Given the description of an element on the screen output the (x, y) to click on. 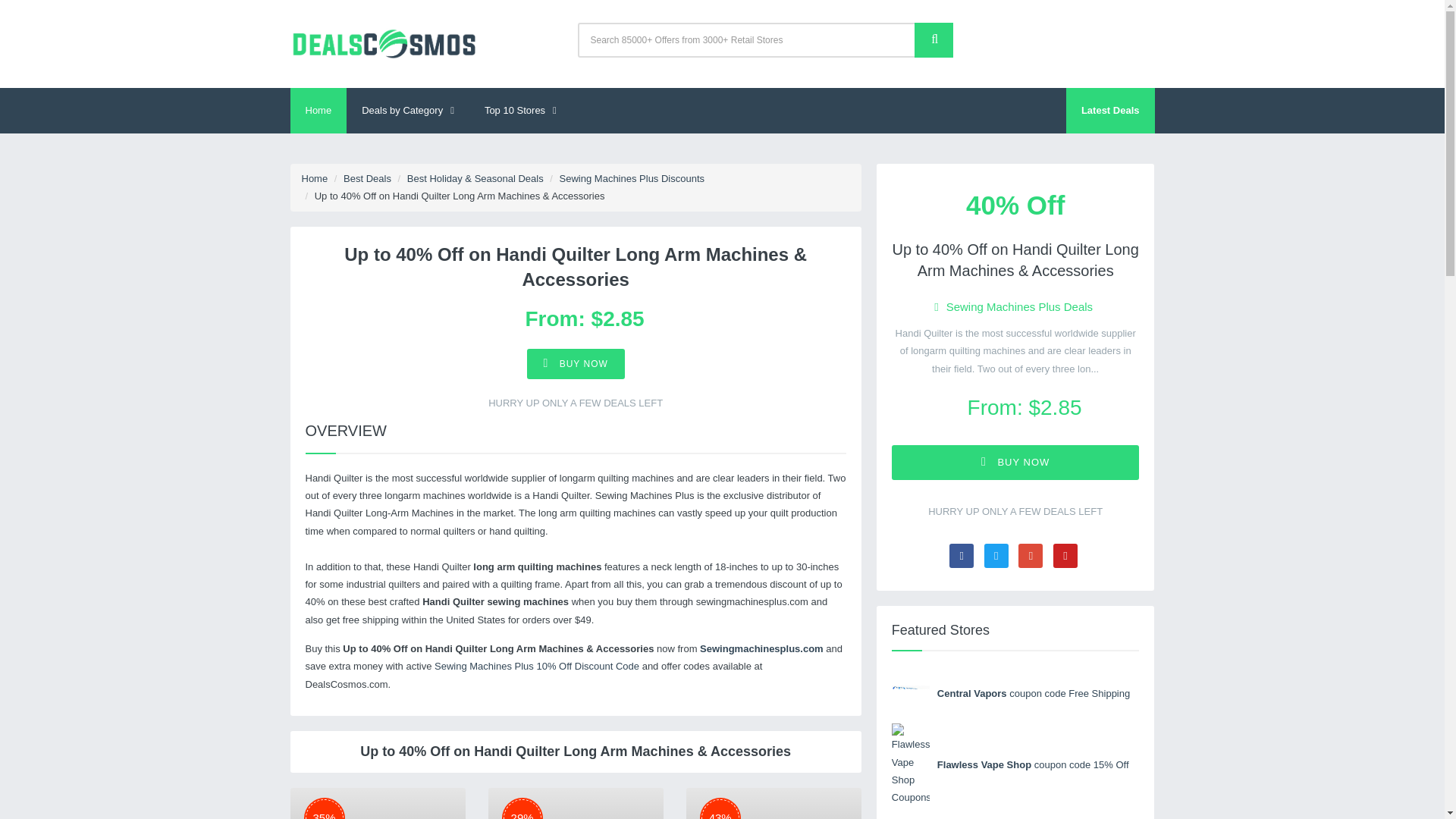
Latest Deals (1109, 110)
Sewingmachinesplus.com (762, 648)
Top 10 Stores (520, 110)
Home (317, 110)
Deals by Category (407, 110)
Sewing Machines Plus Discounts (631, 178)
BUY NOW (575, 363)
Home (315, 178)
Best Deals (367, 178)
